Given the description of an element on the screen output the (x, y) to click on. 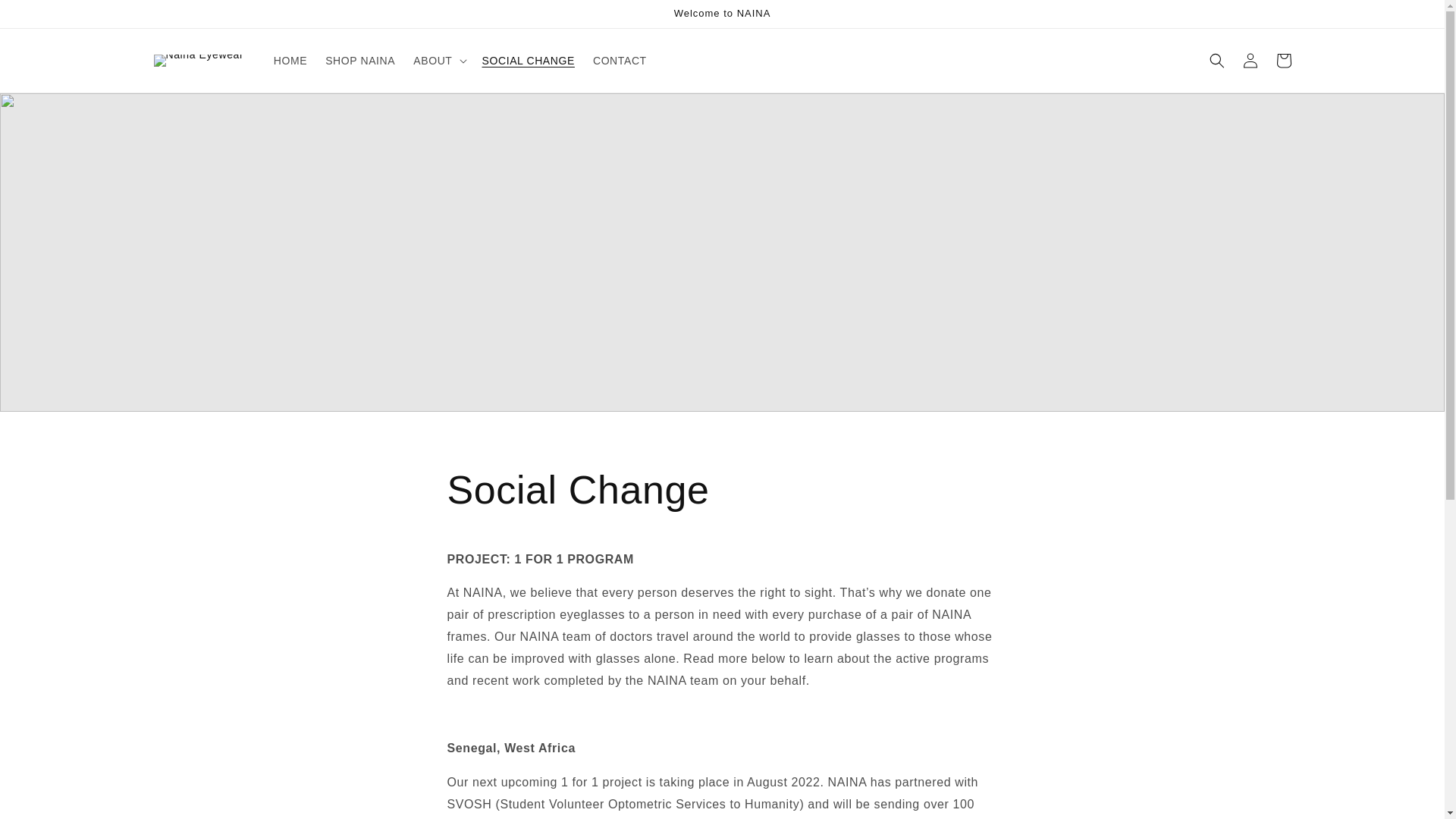
Cart (1283, 60)
Skip to content (45, 16)
SOCIAL CHANGE (528, 60)
CONTACT (619, 60)
Log in (1249, 60)
HOME (289, 60)
SHOP NAINA (359, 60)
